Given the description of an element on the screen output the (x, y) to click on. 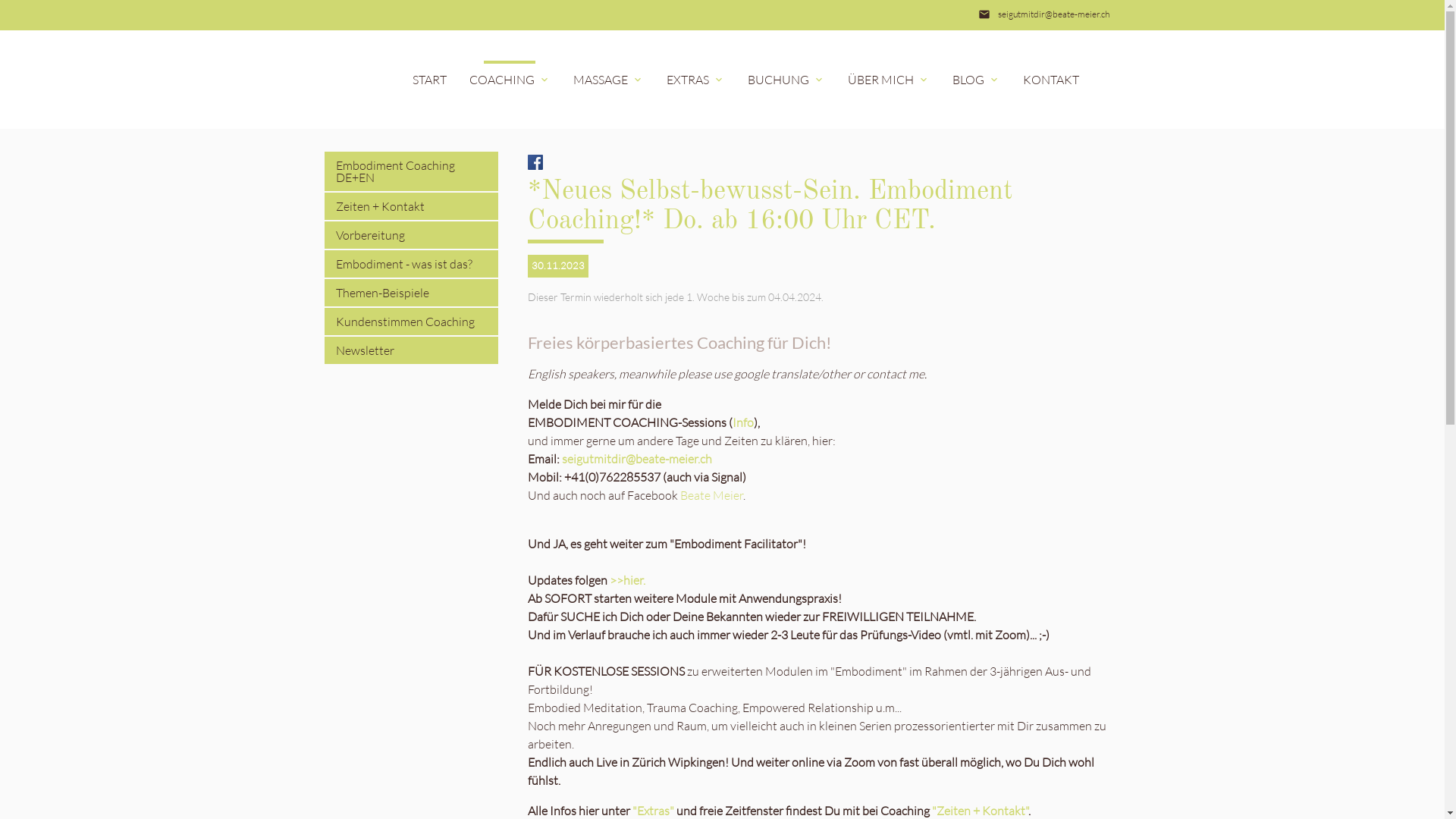
Embodiment Coaching DE+EN Element type: text (411, 171)
MASSAGE
expand_more Element type: text (607, 79)
Themen-Beispiele Element type: text (411, 292)
KONTAKT Element type: text (1050, 79)
>>hier. Element type: text (627, 579)
Auf Facebook teilen Element type: hover (534, 160)
seigutmitdir@beate-meier.ch Element type: text (1053, 14)
START Element type: text (428, 79)
Kundenstimmen Coaching Element type: text (411, 321)
COACHING
expand_more Element type: text (509, 79)
Newsletter Element type: text (411, 350)
BLOG
expand_more Element type: text (975, 79)
Beate Meier Element type: text (711, 494)
Embodiment - was ist das? Element type: text (411, 263)
EXTRAS
expand_more Element type: text (695, 79)
Zeiten + Kontakt Element type: text (411, 205)
seigutmitdir@beate-meier.ch Element type: text (636, 458)
Vorbereitung Element type: text (411, 234)
"Extras" Element type: text (653, 810)
Info Element type: text (742, 421)
"Zeiten + Kontakt" Element type: text (979, 810)
BUCHUNG
expand_more Element type: text (785, 79)
